Given the description of an element on the screen output the (x, y) to click on. 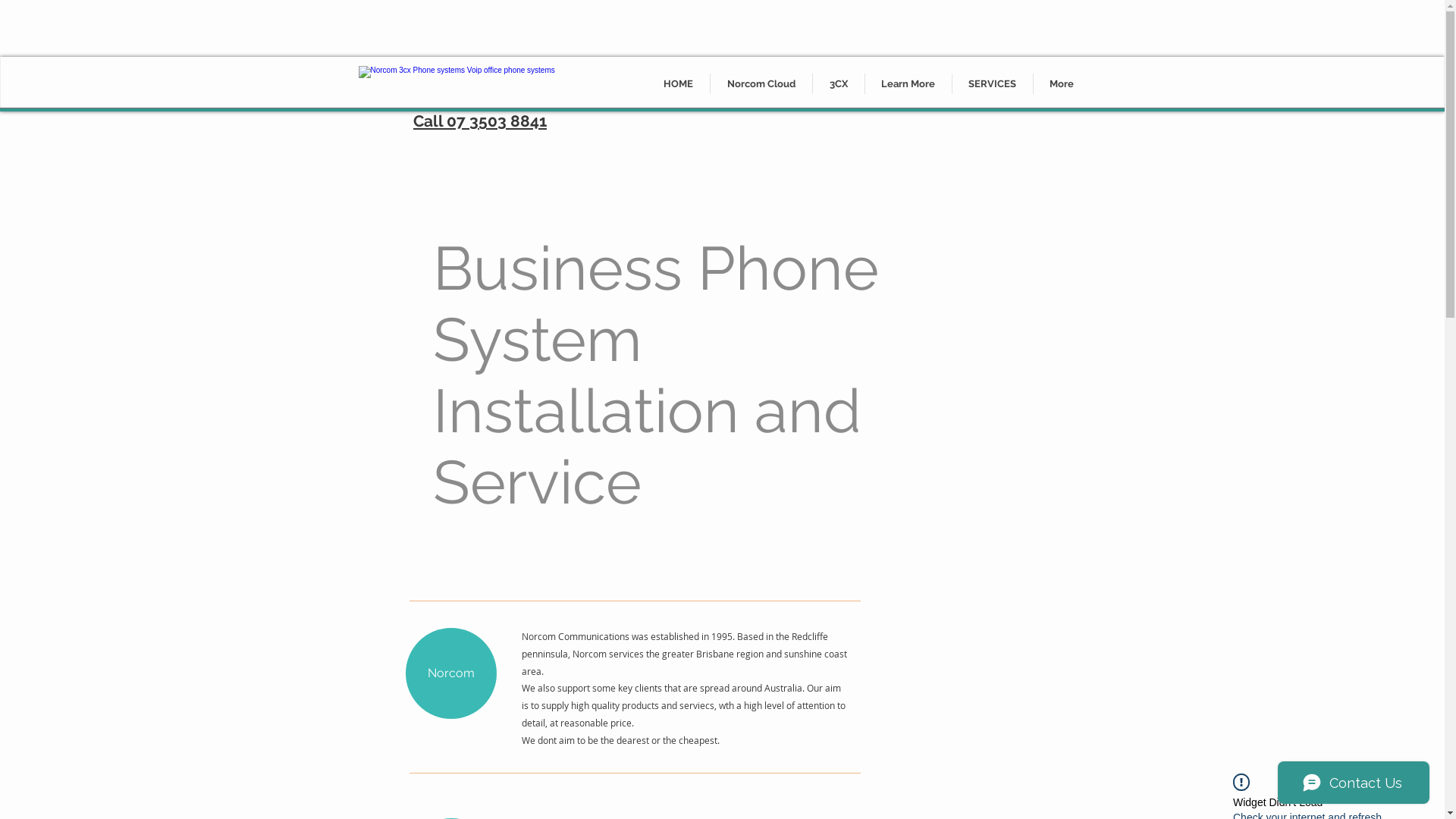
HOME Element type: text (677, 83)
SERVICES Element type: text (992, 83)
Call 07 3503 8841 Element type: text (479, 120)
Norcom Cloud Element type: text (760, 83)
3CX Element type: text (838, 83)
